Given the description of an element on the screen output the (x, y) to click on. 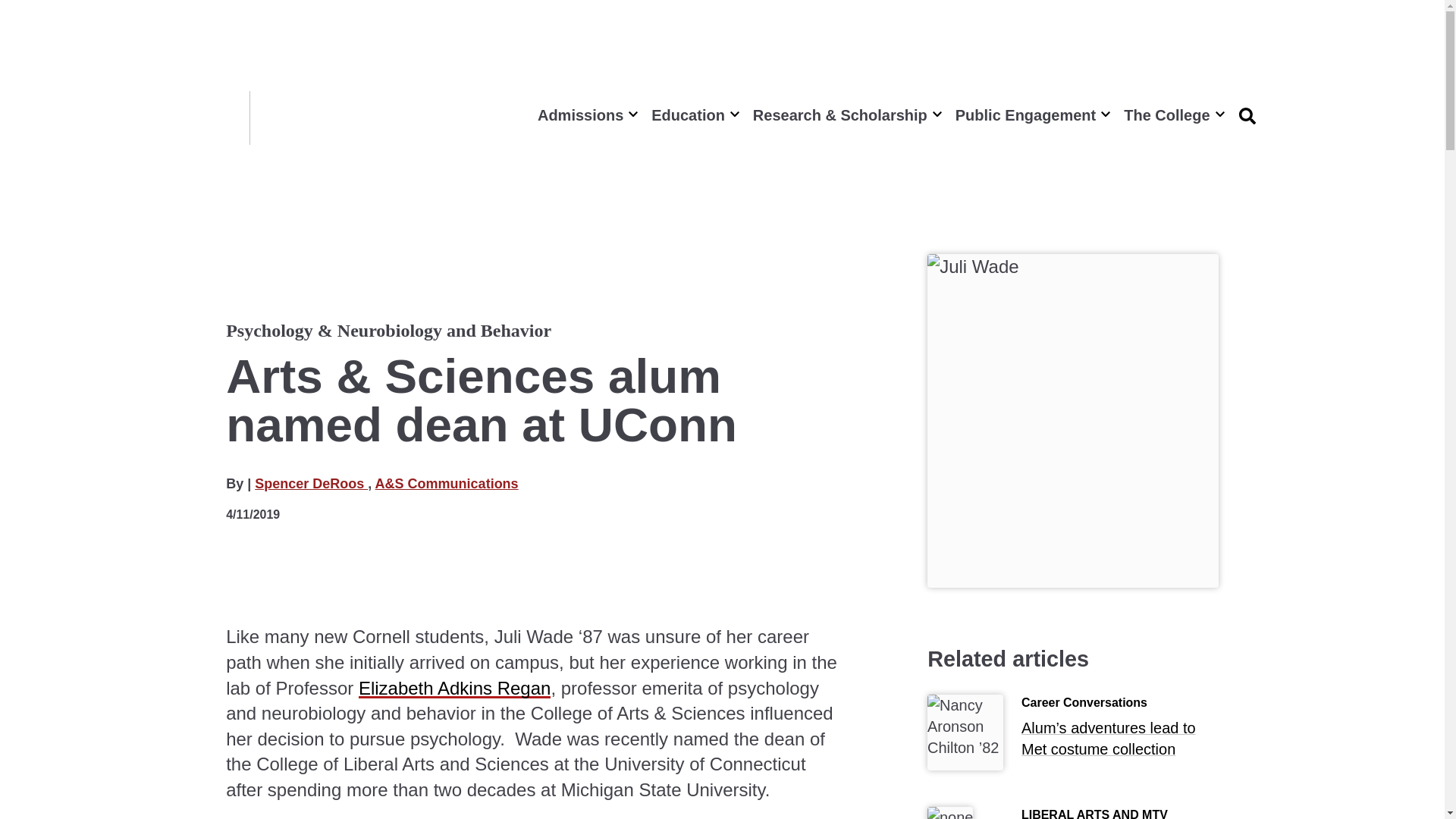
Cornell University (206, 117)
Education (693, 115)
Cornell University (206, 117)
Admissions (585, 115)
Public Engagement (1030, 115)
The College (1171, 115)
